Given the description of an element on the screen output the (x, y) to click on. 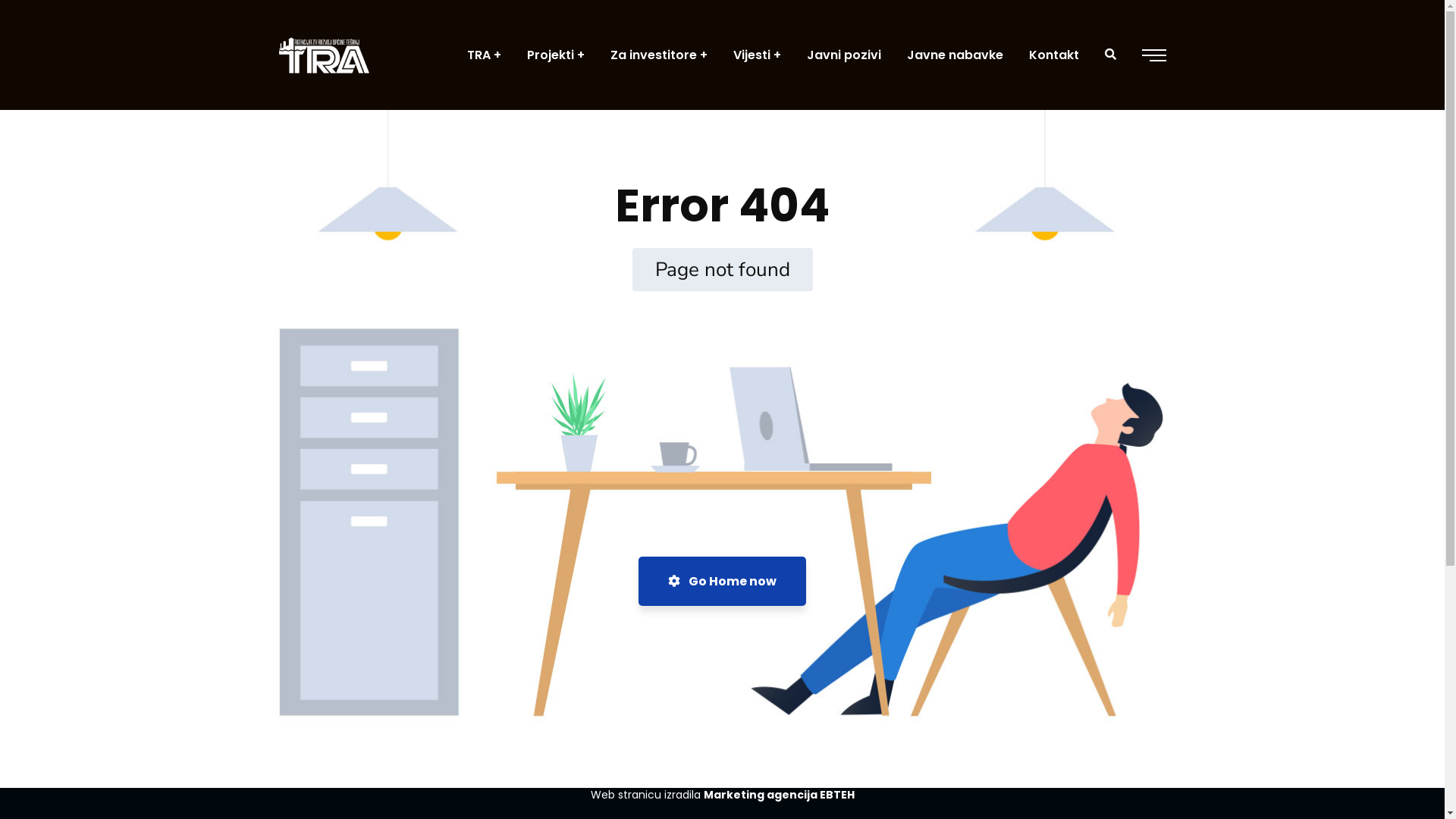
Javni pozivi Element type: text (843, 54)
Projekti Element type: text (983, 638)
Javni nabavke Element type: text (1004, 707)
Javne nabavke Element type: text (954, 54)
Vijesti Element type: text (756, 54)
Javni pozivi Element type: text (995, 684)
TRA Element type: text (484, 54)
Go Home now Element type: text (722, 580)
Lokalni razvoj Element type: text (1000, 661)
Projekti Element type: text (554, 54)
Za investitore Element type: text (657, 54)
Kontakt Element type: text (1053, 54)
Marketing agencija EBTEH Element type: text (778, 794)
